Given the description of an element on the screen output the (x, y) to click on. 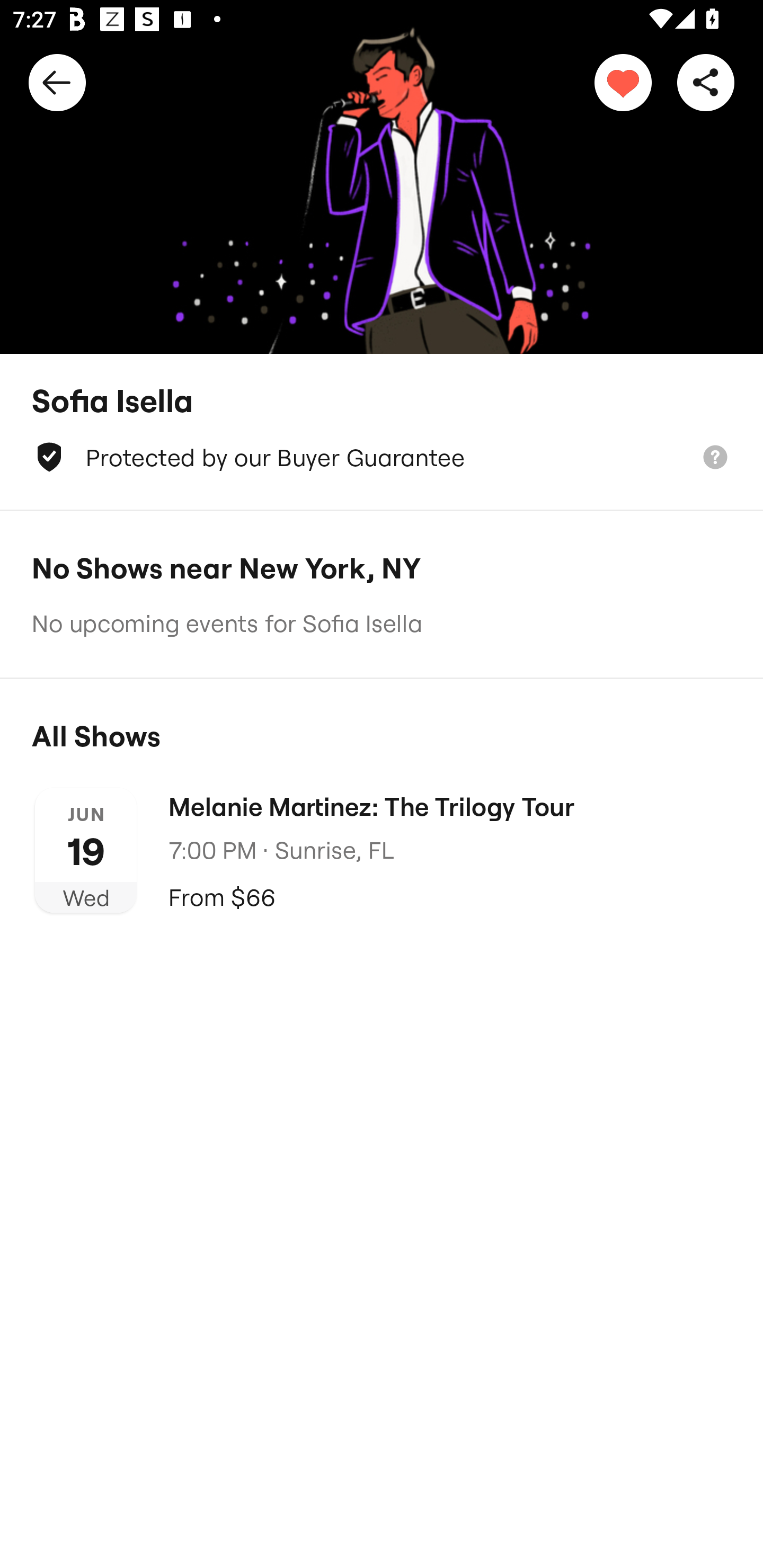
Back (57, 81)
Track this performer (623, 81)
Share this performer (705, 81)
Protected by our Buyer Guarantee Learn more (381, 456)
